Given the description of an element on the screen output the (x, y) to click on. 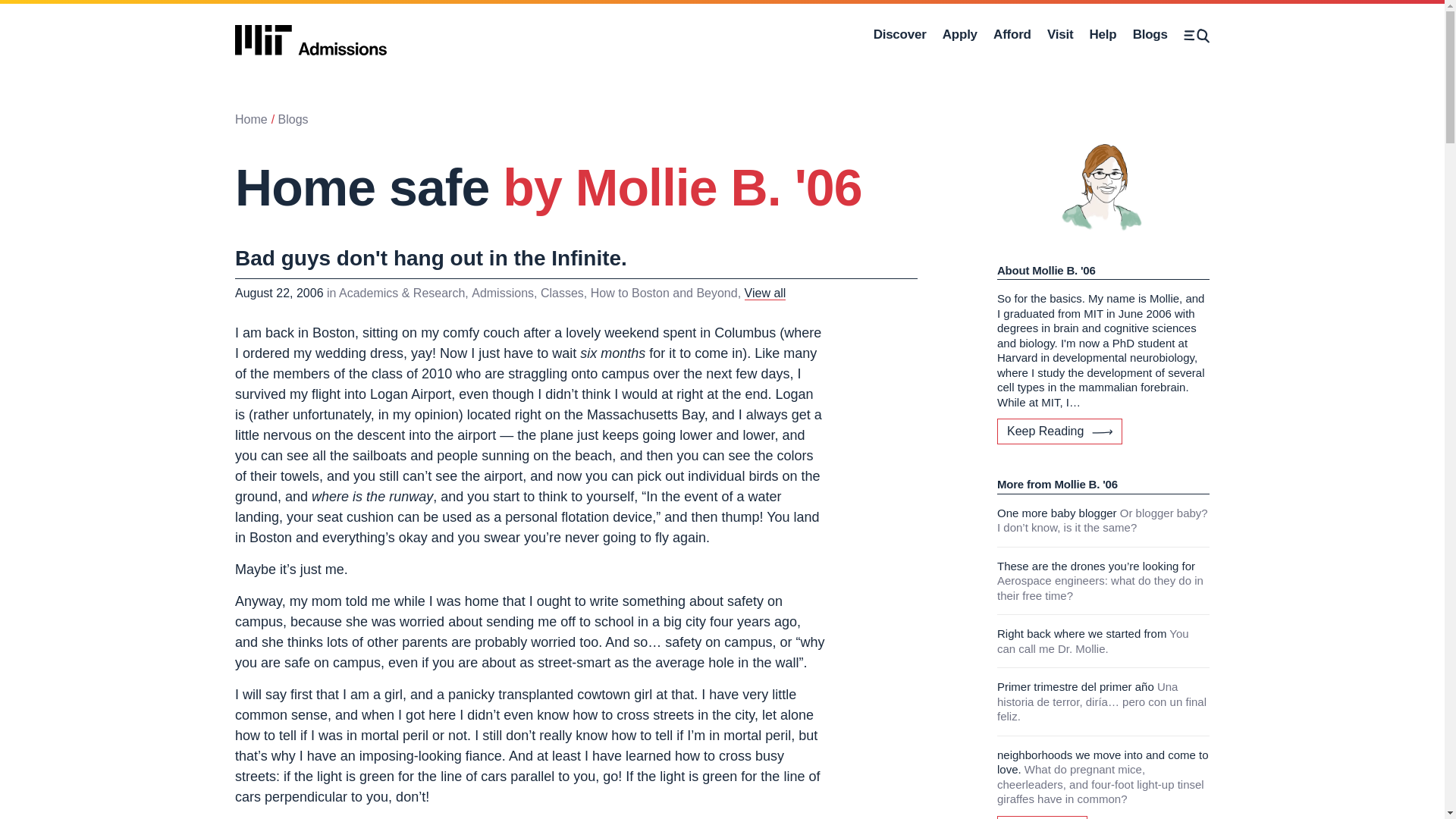
Apply (959, 35)
MIT logo (310, 40)
Magnifying glass icon next to a menu icon (1196, 35)
Help (1102, 35)
Home (250, 119)
Discover (899, 35)
Afford (1011, 35)
by Mollie B. '06 (681, 187)
MIT logo (310, 35)
Blogs (1149, 35)
Blogs (293, 119)
An arrow pointing right (1102, 431)
Visit (1059, 35)
